Given the description of an element on the screen output the (x, y) to click on. 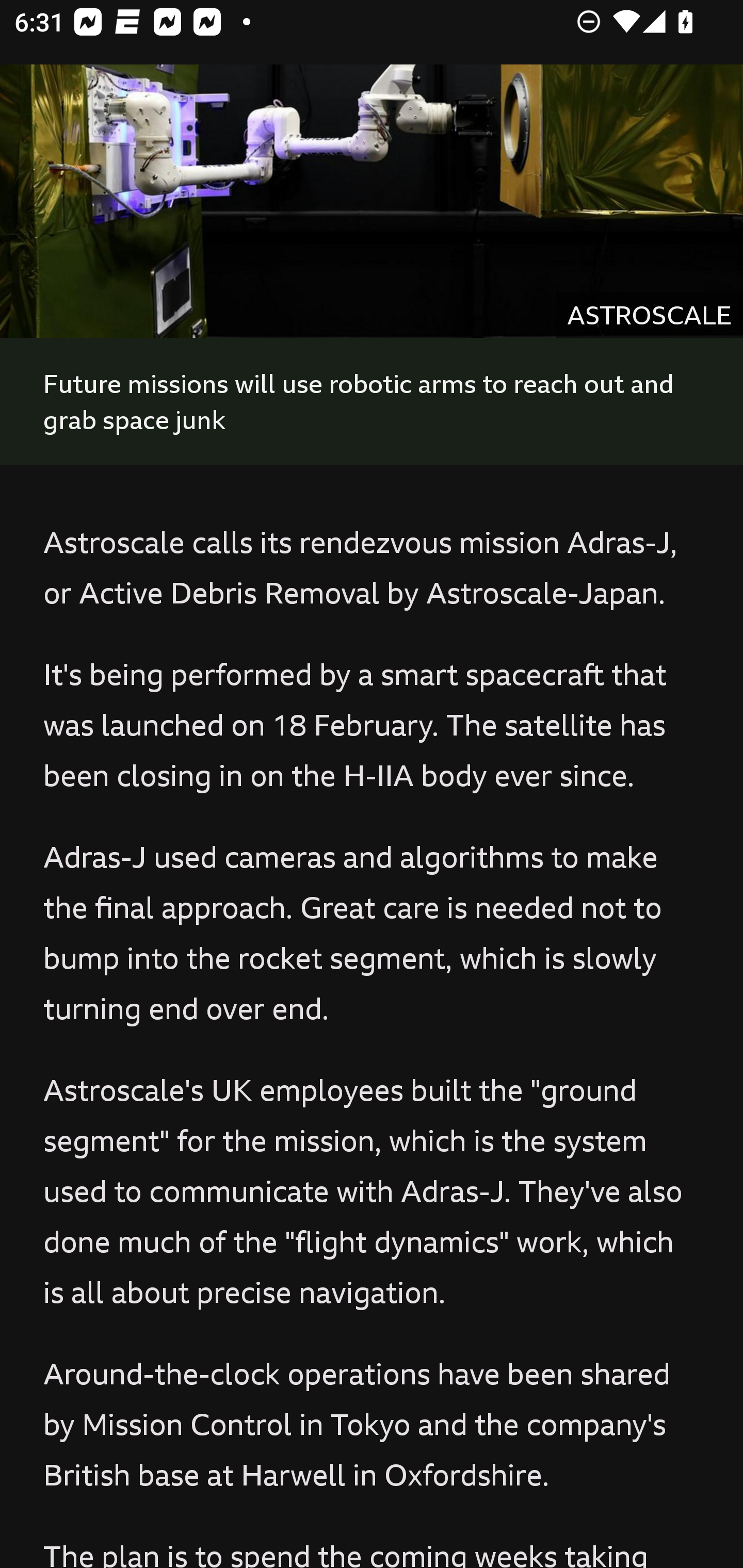
Robot arm (371, 200)
